Given the description of an element on the screen output the (x, y) to click on. 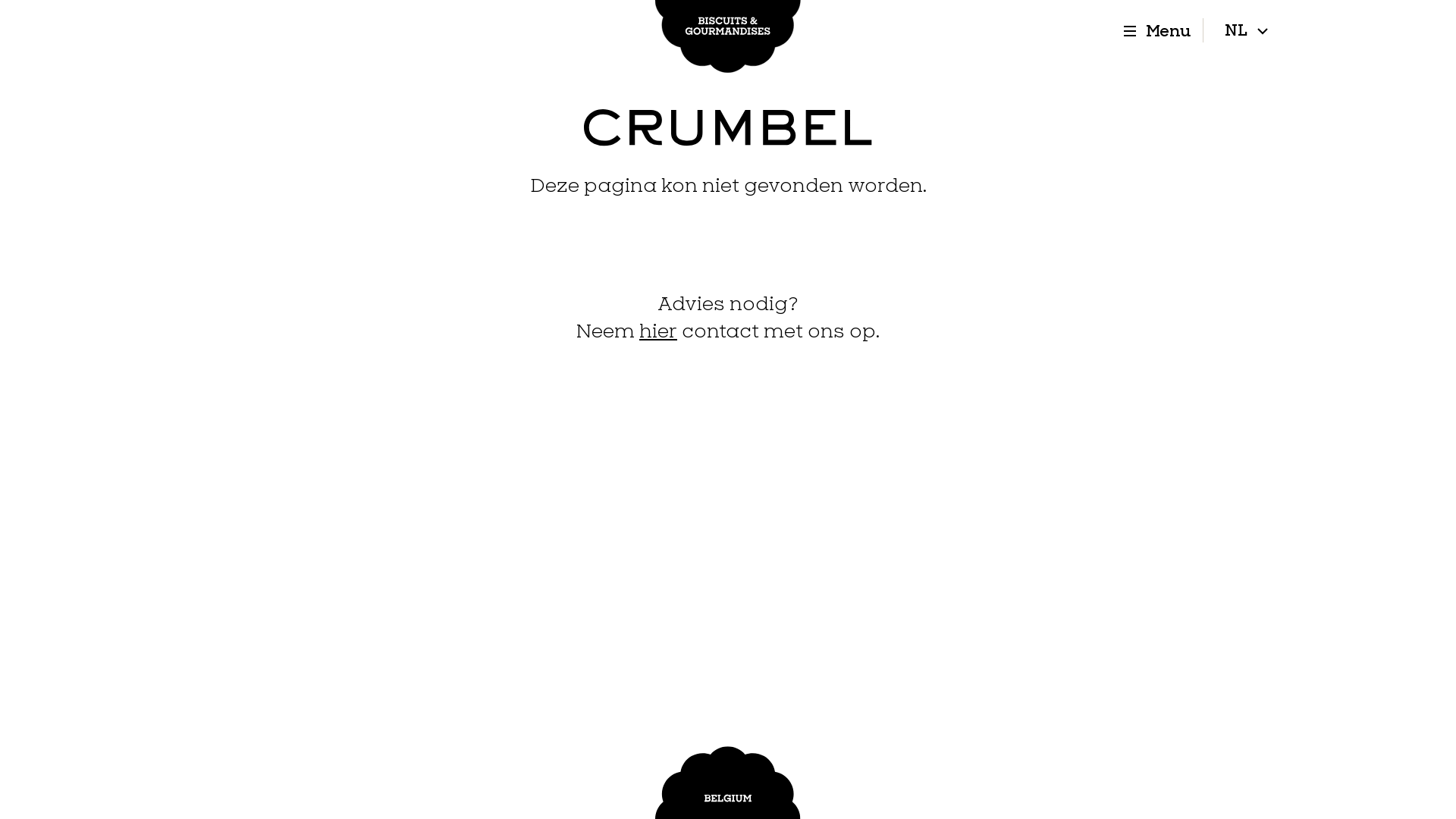
NL Element type: text (1246, 29)
hier Element type: text (658, 330)
Menu Element type: text (1160, 30)
